Given the description of an element on the screen output the (x, y) to click on. 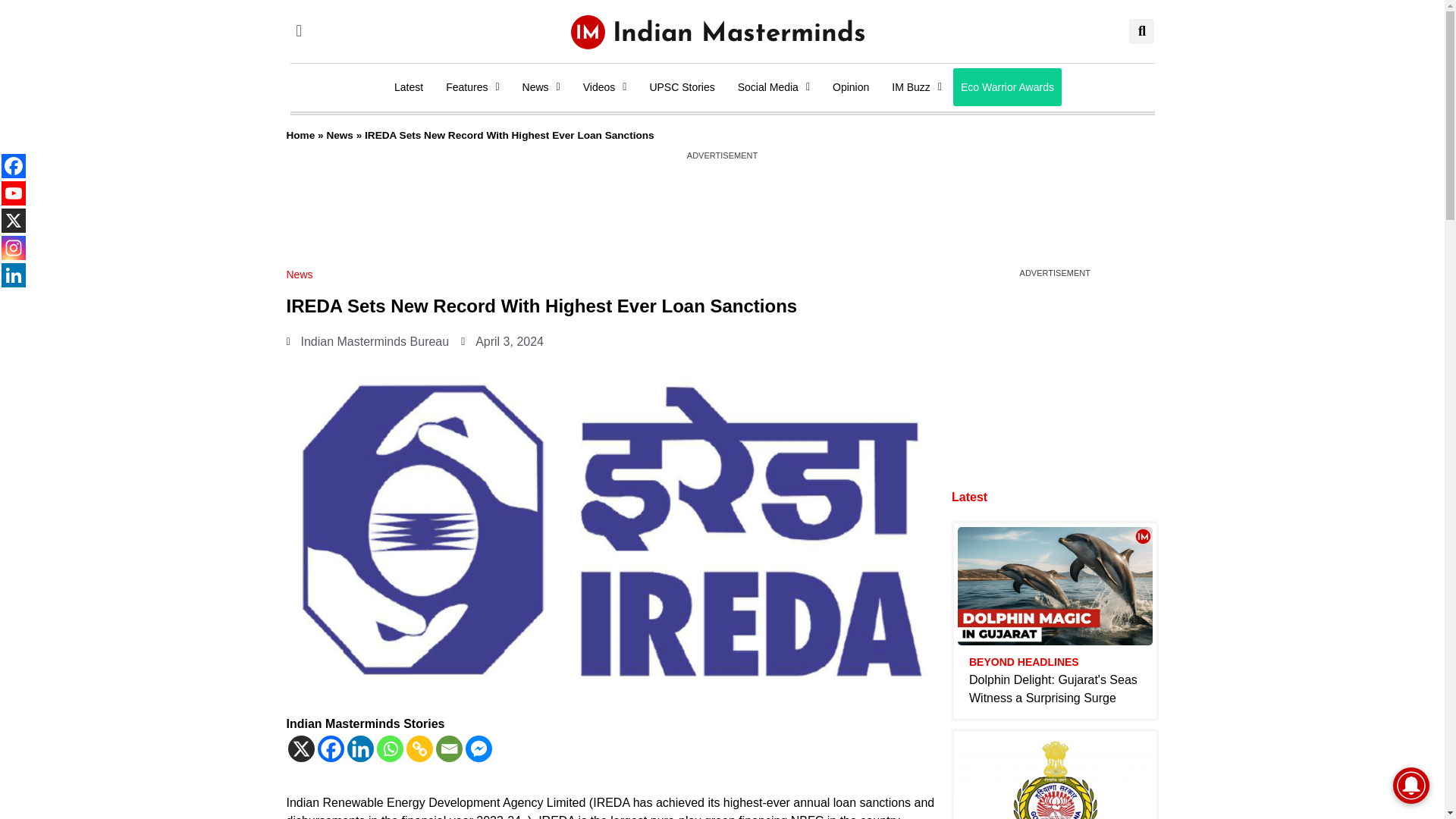
Copy Link (419, 748)
Features (472, 86)
X (301, 748)
Email (448, 748)
Latest (407, 86)
Linkedin (360, 748)
Whatsapp (389, 748)
3rd party ad content (721, 196)
Facebook (330, 748)
